Given the description of an element on the screen output the (x, y) to click on. 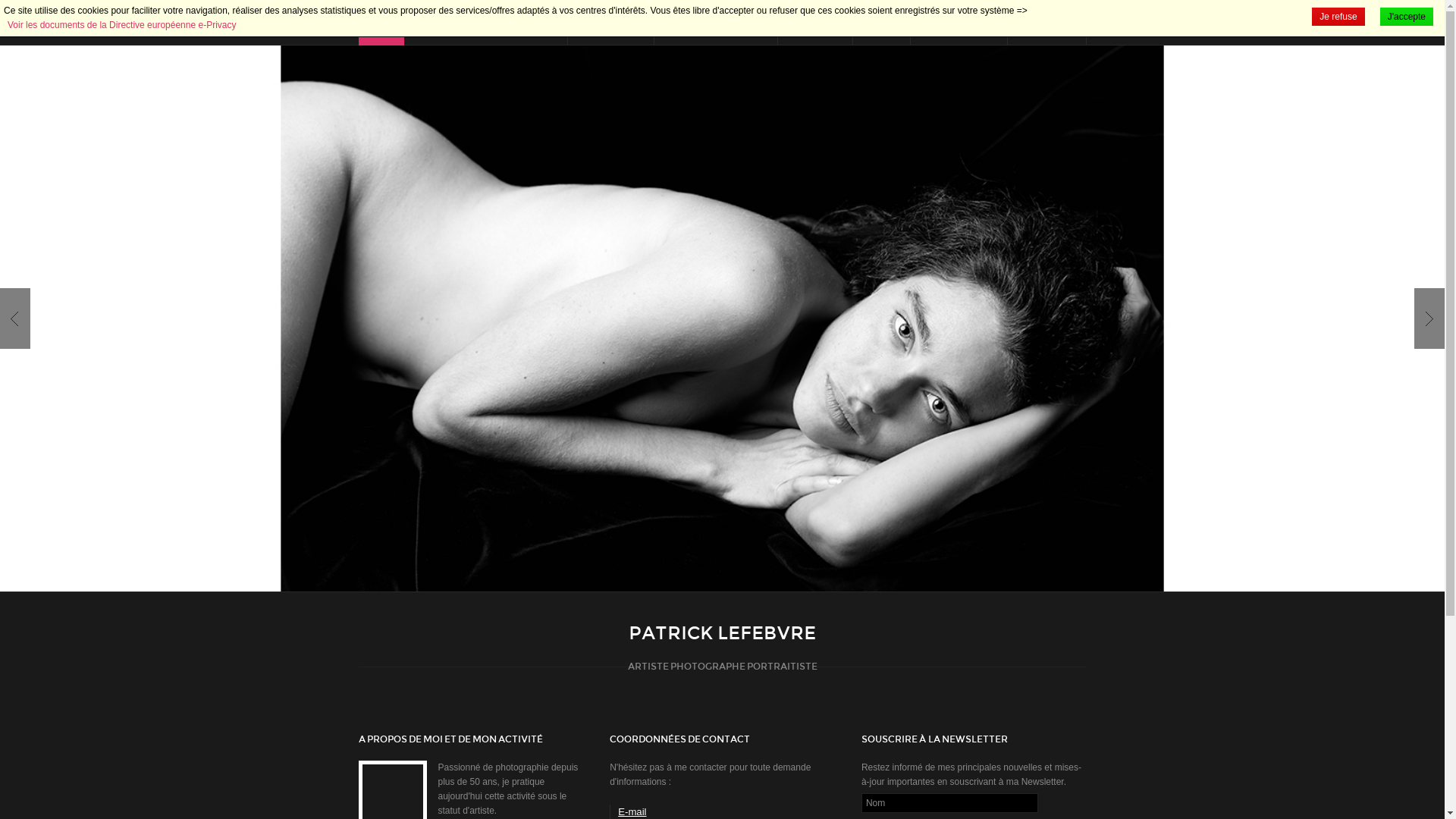
CONTACT Element type: text (1046, 22)
Je refuse Element type: text (1337, 16)
PORTFOLIO Element type: text (609, 22)
EXPOSITIONS Element type: text (958, 22)
Accueil Element type: hover (380, 22)
PROJETS Element type: text (815, 22)
Nom Element type: hover (949, 802)
J'accepte Element type: text (1406, 16)
BLOG Element type: text (880, 22)
